Given the description of an element on the screen output the (x, y) to click on. 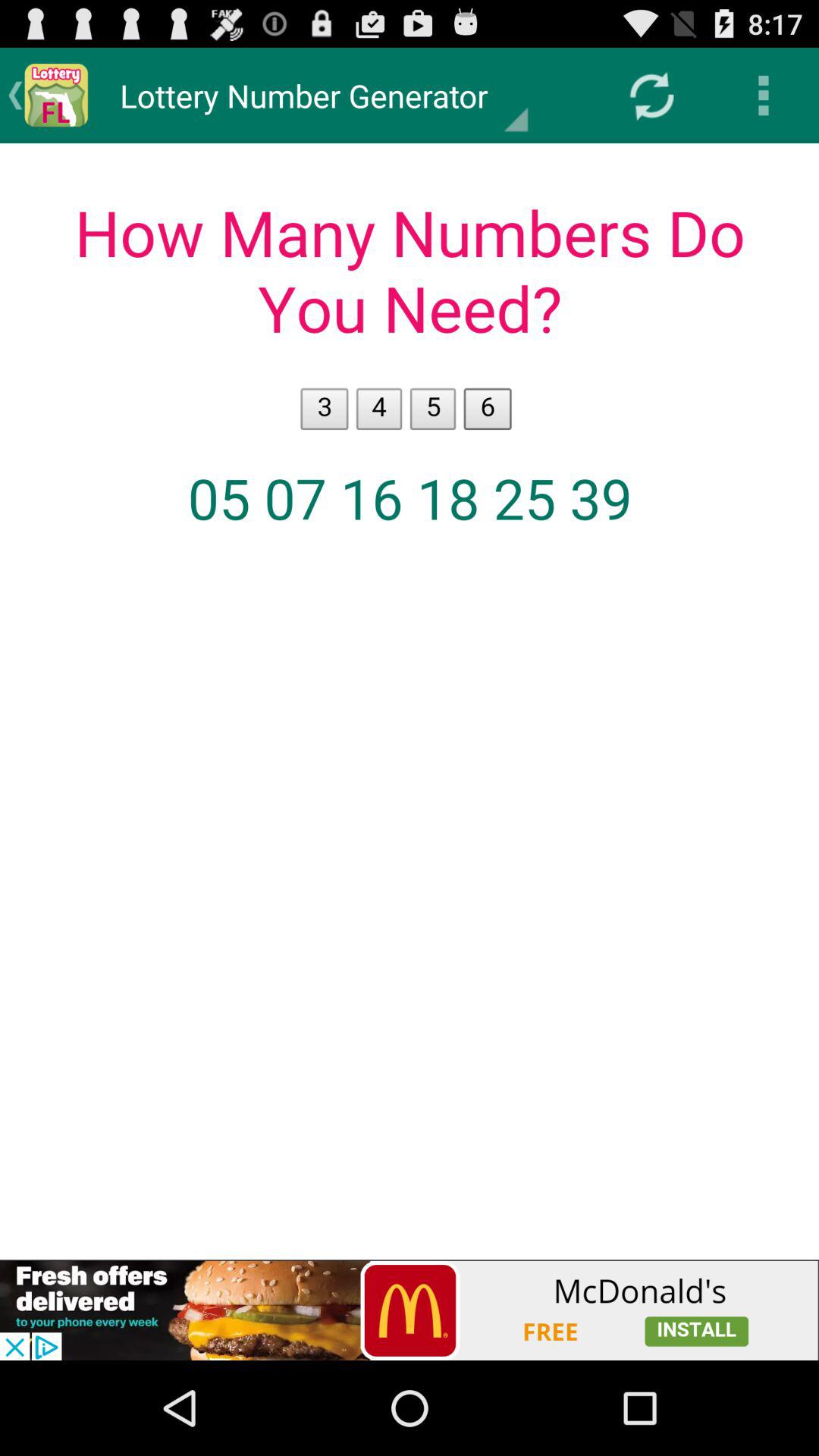
name wordas (409, 701)
